Given the description of an element on the screen output the (x, y) to click on. 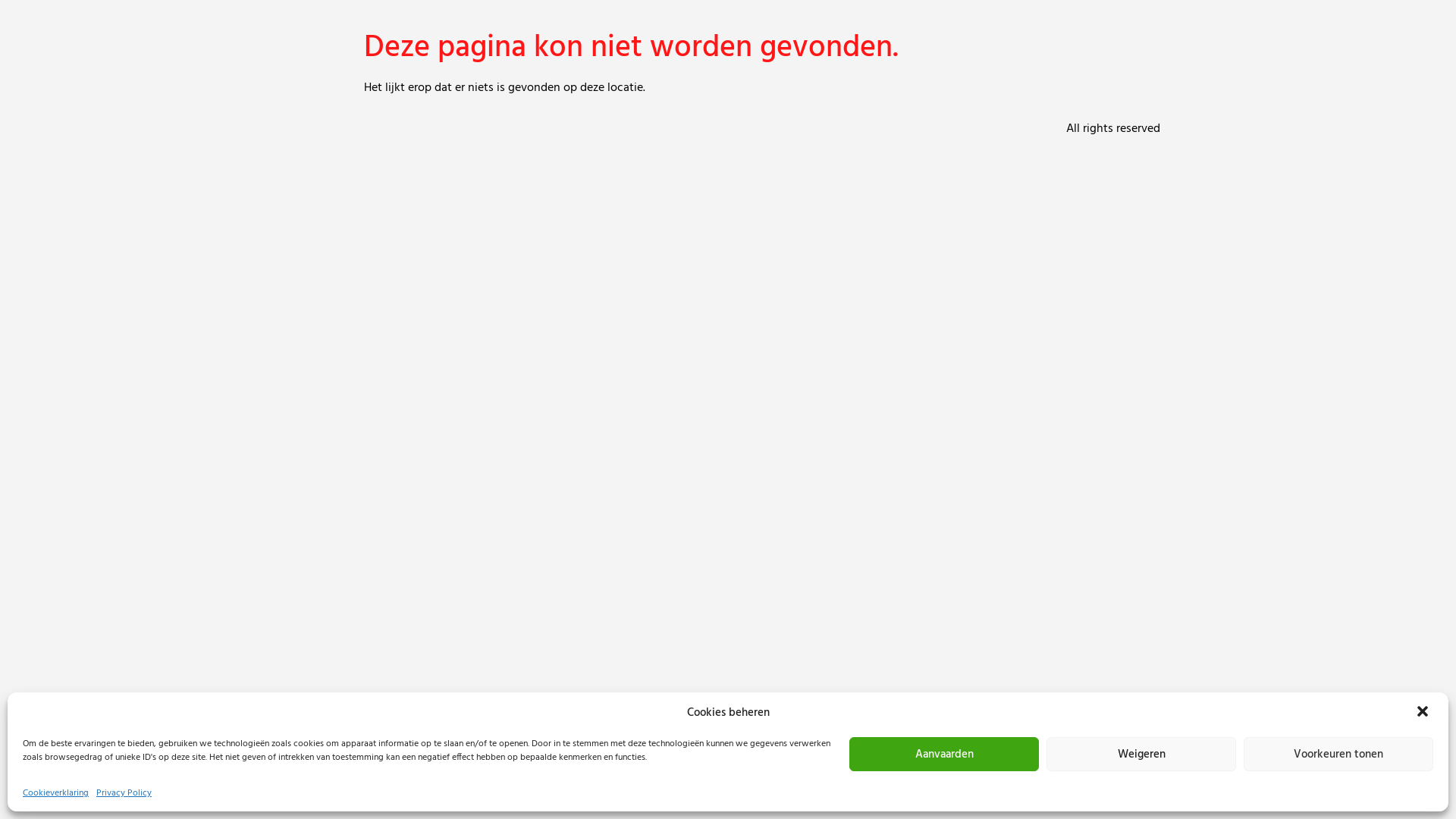
Privacy Policy Element type: text (123, 793)
Voorkeuren tonen Element type: text (1338, 754)
Aanvaarden Element type: text (943, 754)
Cookieverklaring Element type: text (55, 793)
Weigeren Element type: text (1141, 754)
